Given the description of an element on the screen output the (x, y) to click on. 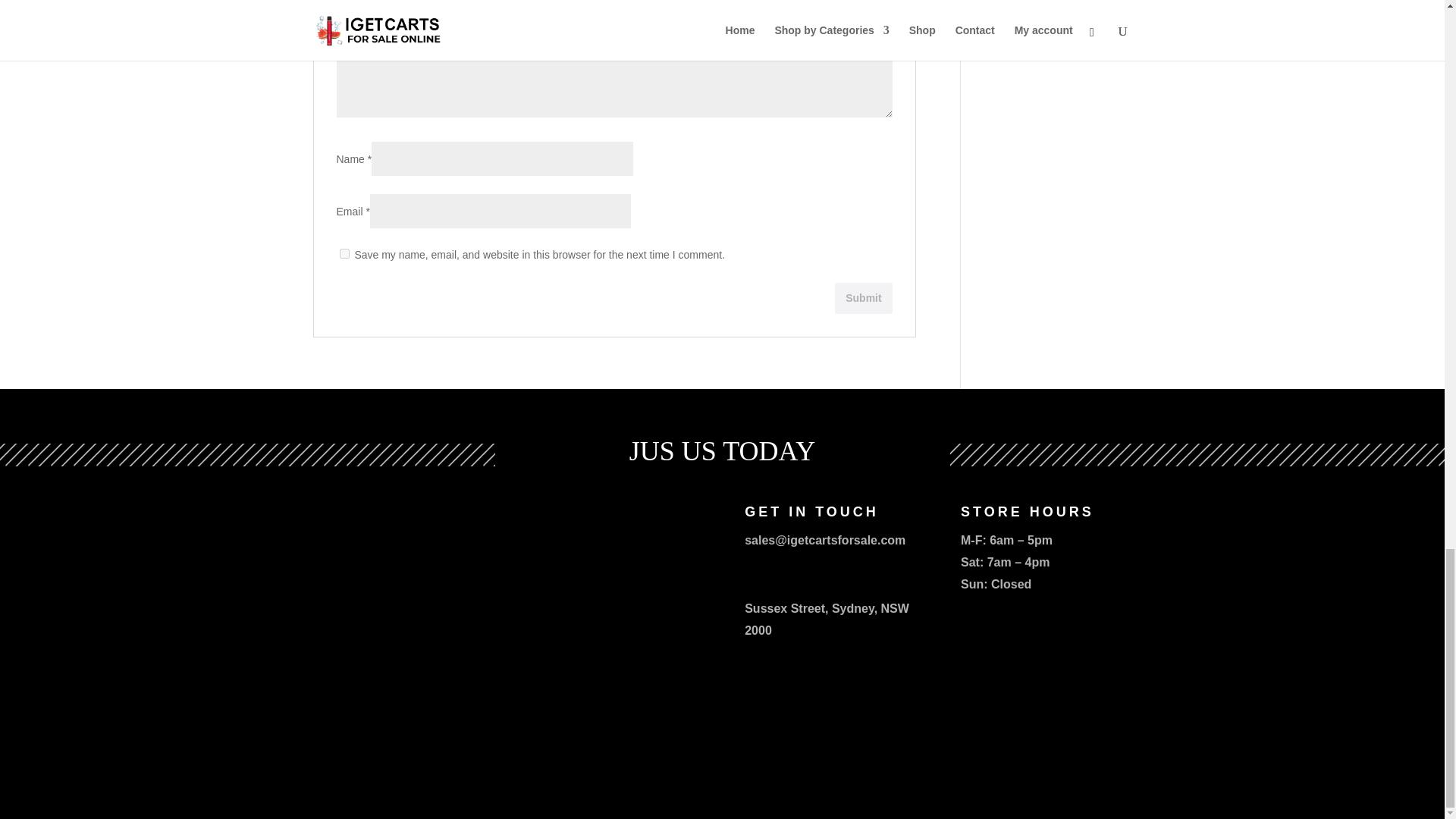
yes (344, 253)
Submit (862, 297)
Submit (862, 297)
